Given the description of an element on the screen output the (x, y) to click on. 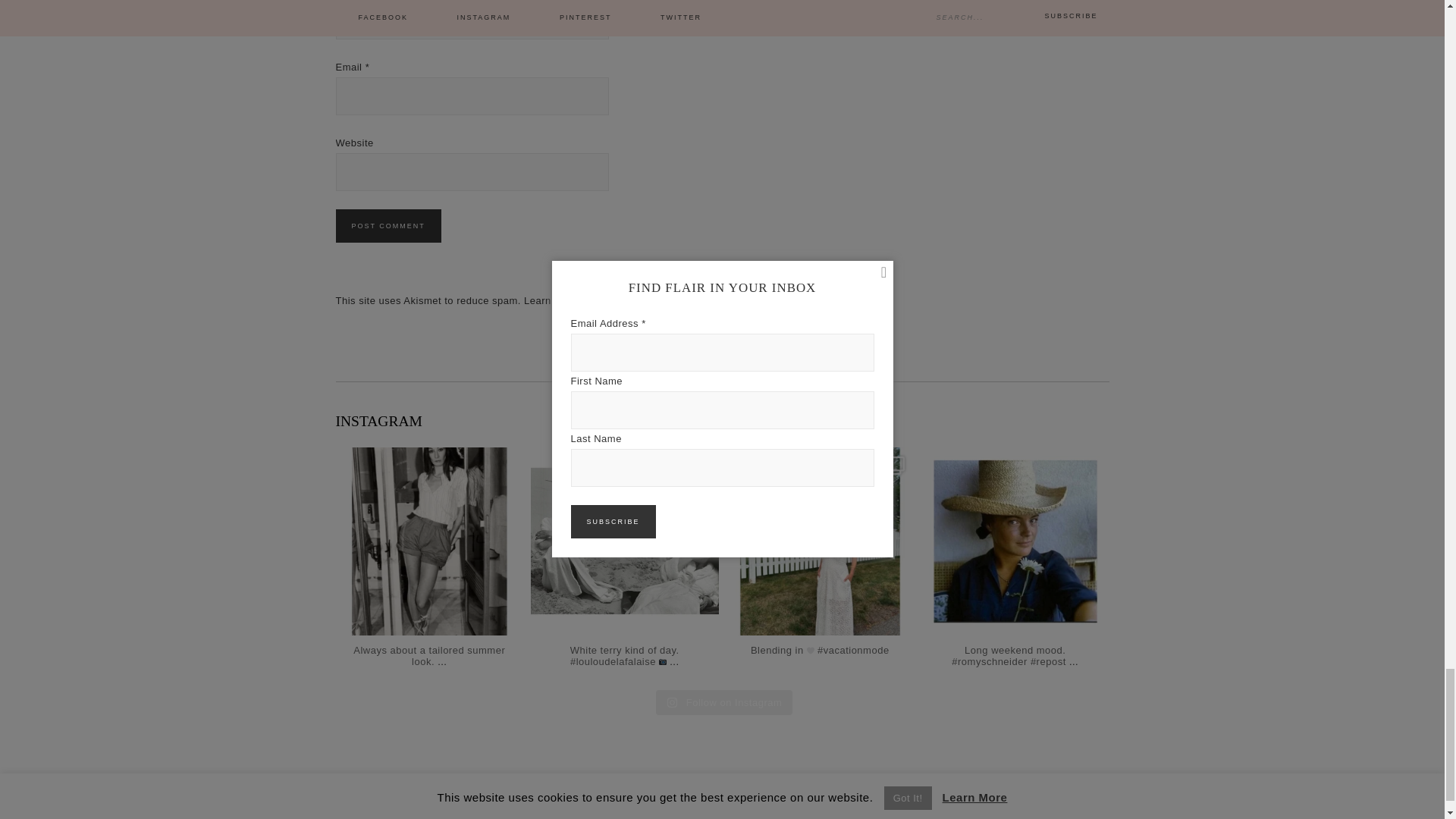
Learn how your comment data is processed (627, 300)
Post Comment (387, 225)
Post Comment (387, 225)
